Given the description of an element on the screen output the (x, y) to click on. 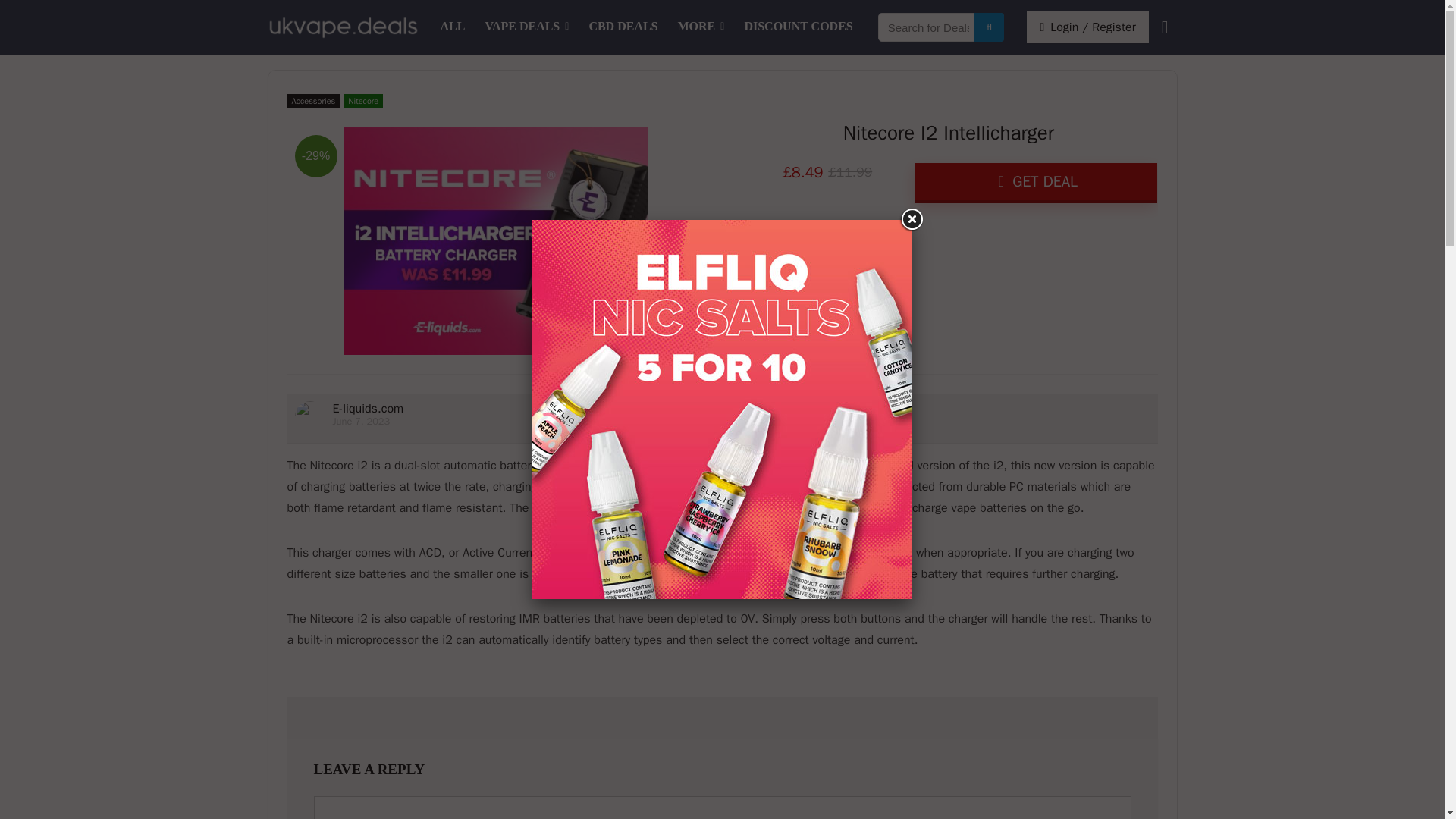
Nitecore (362, 100)
GET DEAL (1035, 182)
Accessories (312, 100)
DISCOUNT CODES (797, 27)
UK Vape Deals  (453, 27)
ALL (453, 27)
Vape Deals (526, 27)
CBD DEALS (622, 27)
MORE (701, 27)
CBD Deals UK (622, 27)
E-liquids.com (367, 408)
View all posts in Nitecore (362, 100)
View all posts in Accessories (312, 100)
VAPE DEALS (526, 27)
